Given the description of an element on the screen output the (x, y) to click on. 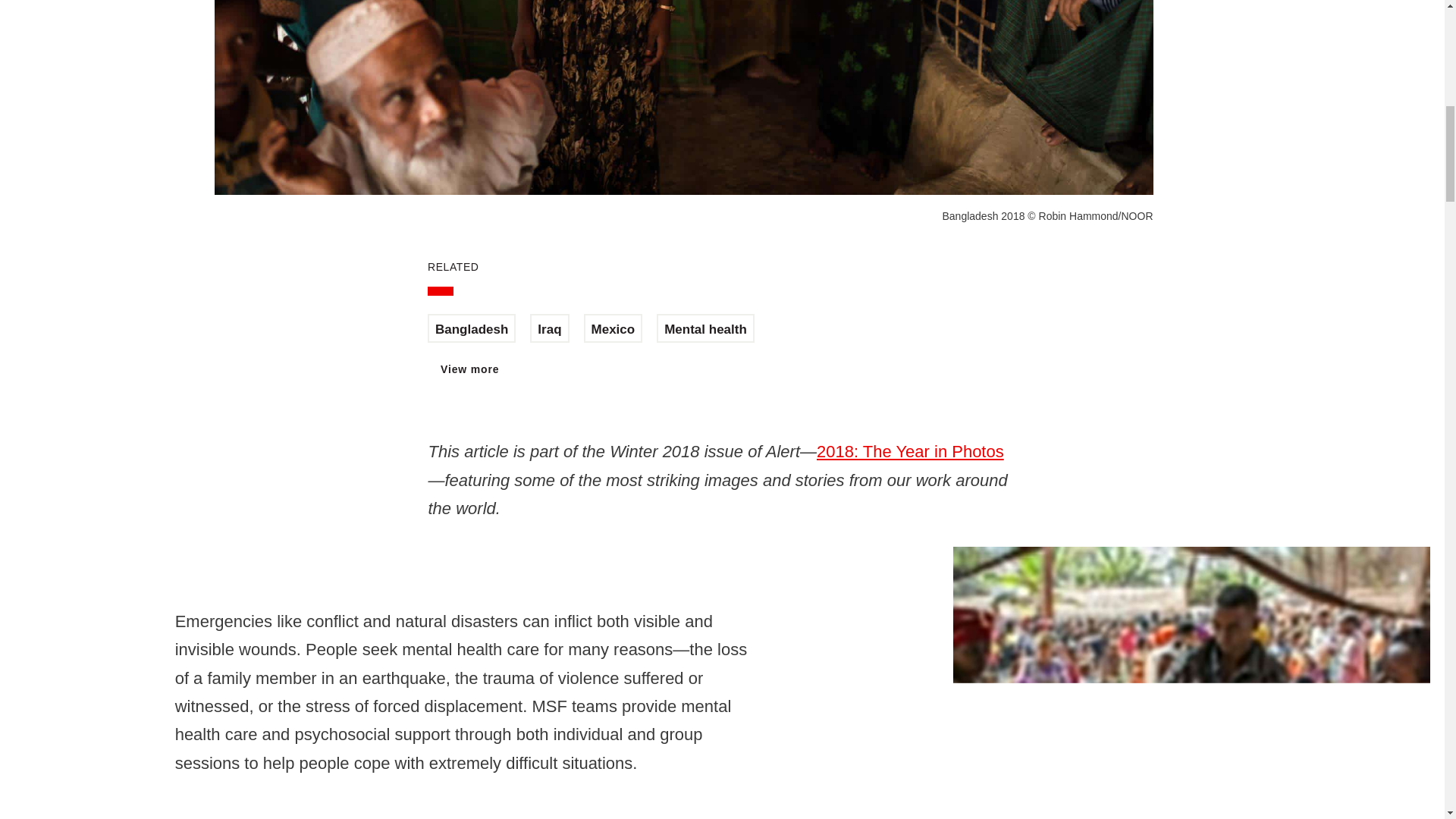
Winter 2018: The year in photos (910, 451)
